Given the description of an element on the screen output the (x, y) to click on. 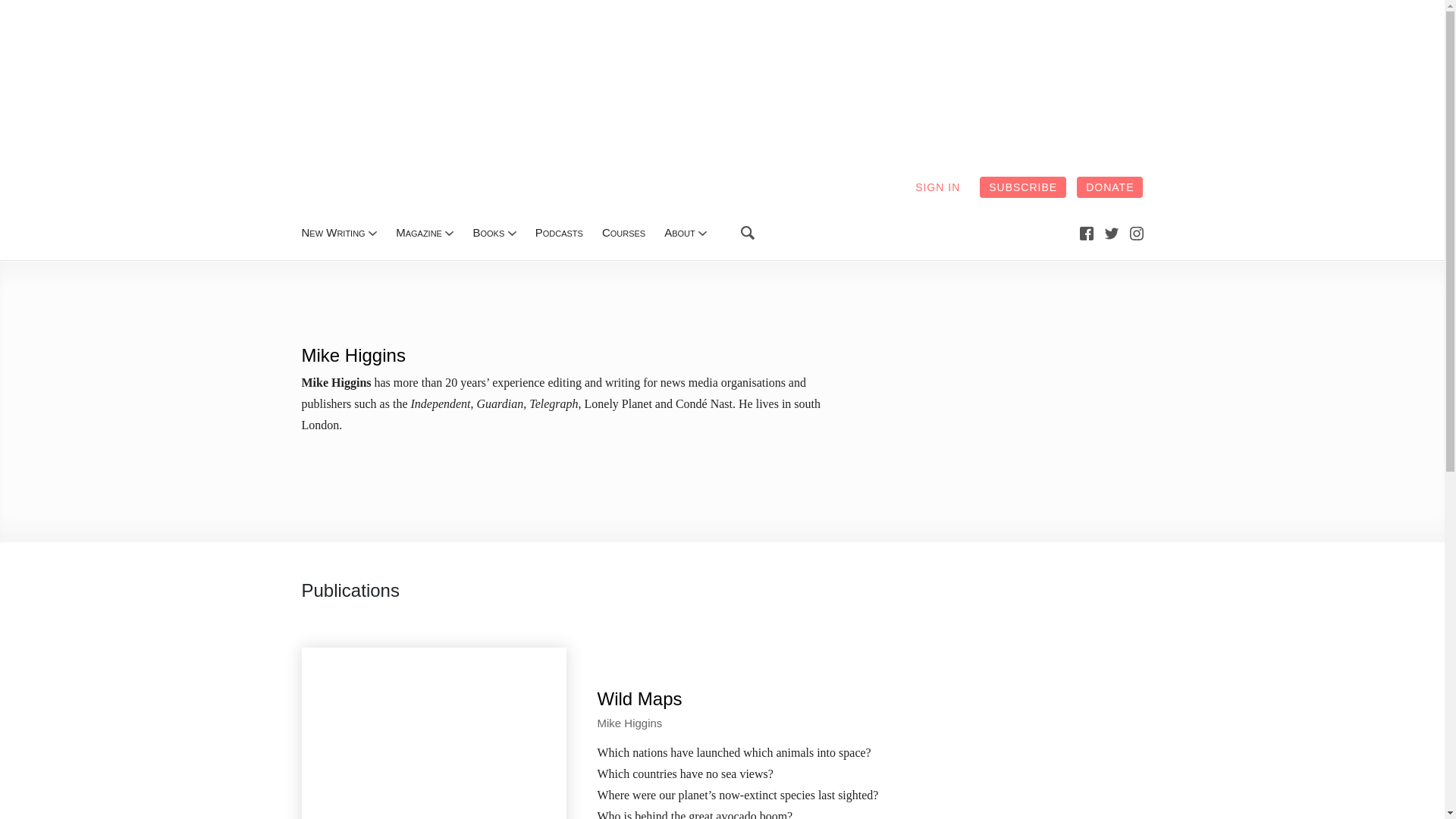
New Writing (333, 232)
twitter Created with Sketch. (1111, 232)
twitter Created with Sketch. (1111, 233)
Courses (623, 232)
Magazine (419, 232)
Books (487, 232)
Podcasts (559, 232)
SUBSCRIBE (1022, 187)
magazine (419, 232)
videos (623, 232)
